Given the description of an element on the screen output the (x, y) to click on. 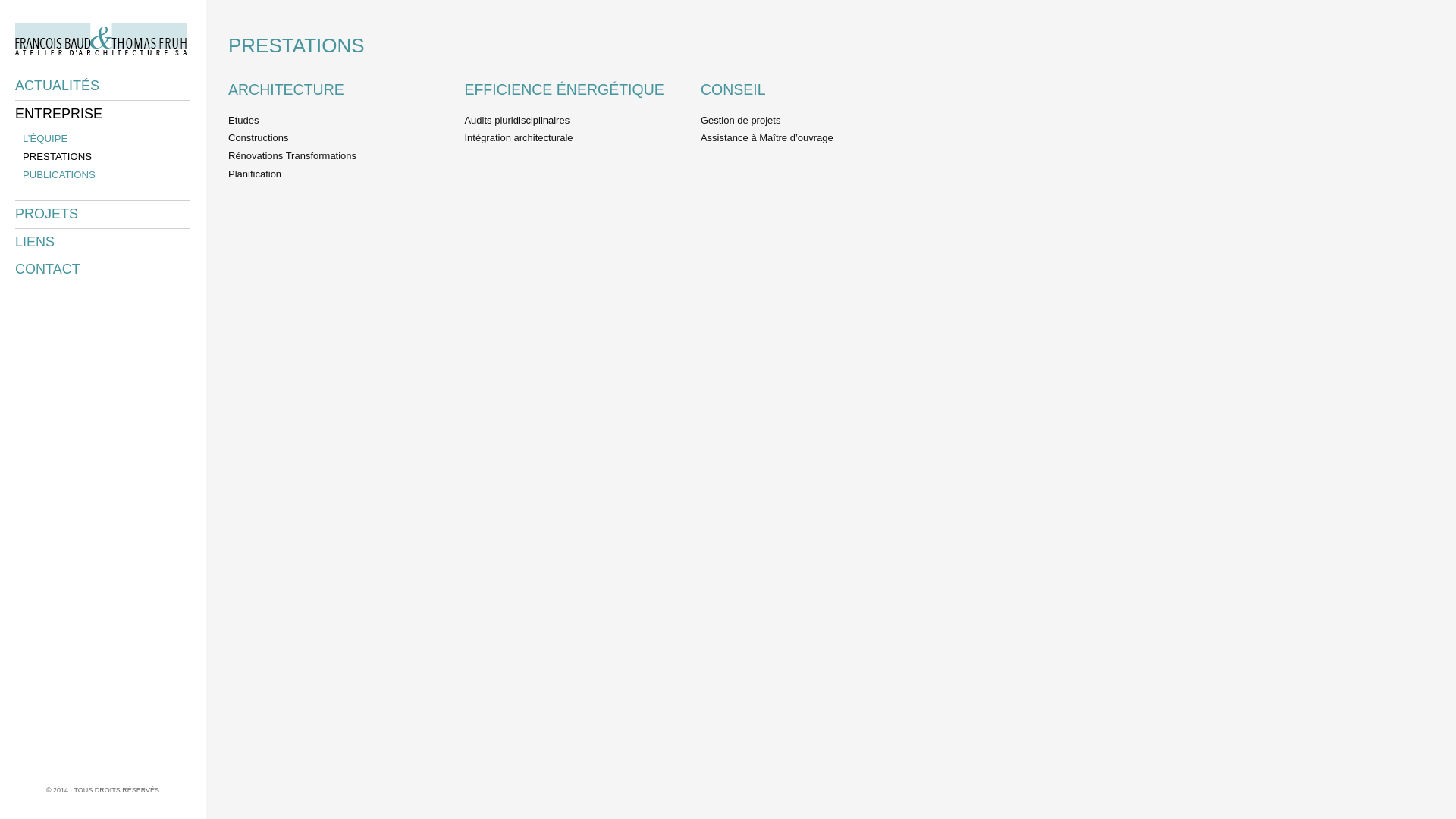
LIENS Element type: text (34, 241)
PRESTATIONS Element type: text (56, 156)
CONTACT Element type: text (47, 269)
ENTREPRISE Element type: text (58, 113)
PROJETS Element type: text (46, 213)
PUBLICATIONS Element type: text (58, 175)
